Given the description of an element on the screen output the (x, y) to click on. 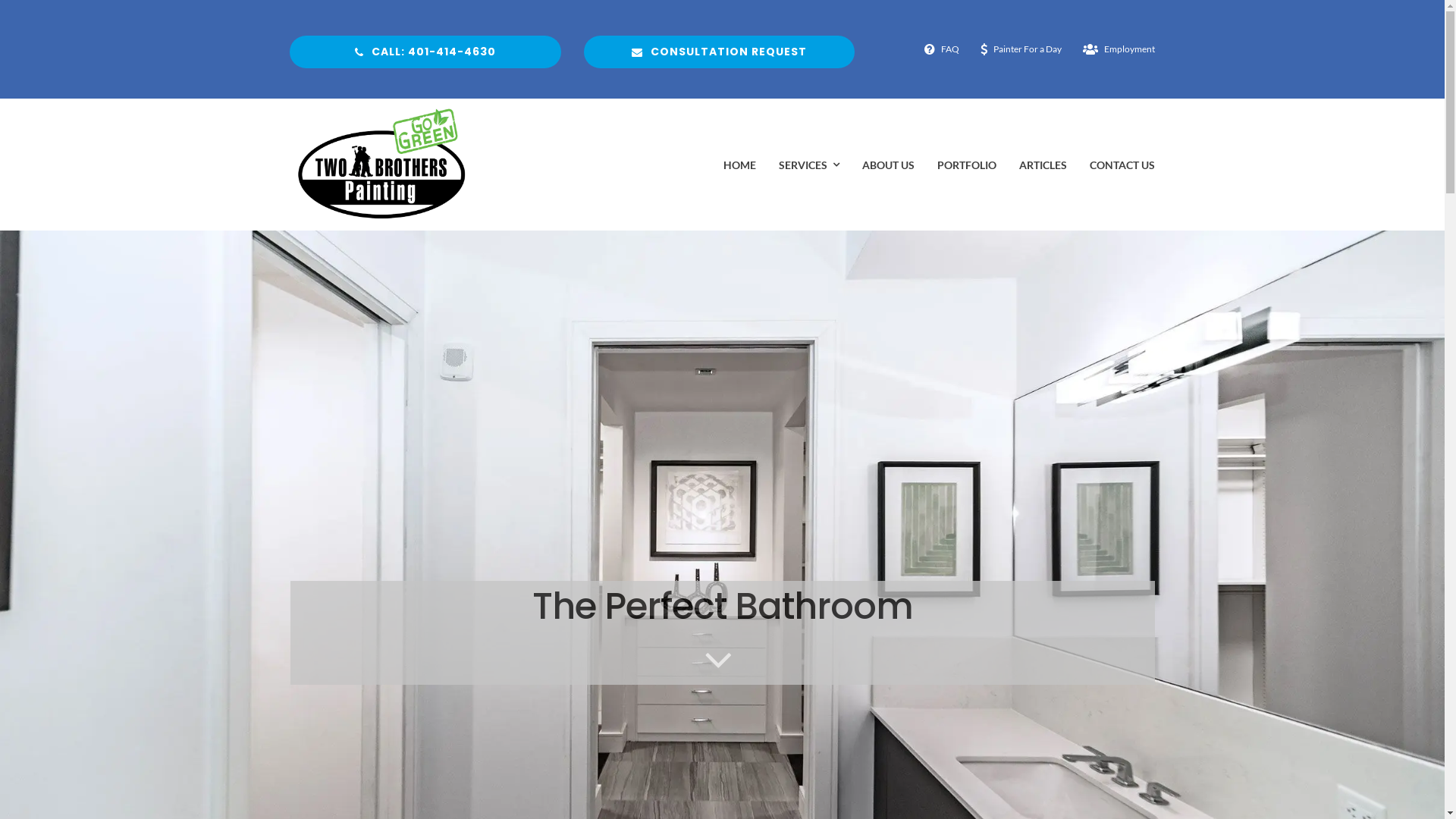
Painter For a Day Element type: text (1017, 49)
PORTFOLIO Element type: text (966, 164)
CONSULTATION REQUEST Element type: text (719, 51)
CONTACT US Element type: text (1121, 164)
ARTICLES Element type: text (1042, 164)
SERVICES Element type: text (808, 164)
FAQ Element type: text (938, 49)
Employment Element type: text (1115, 49)
HOME Element type: text (739, 164)
CALL: 401-414-4630 Element type: text (425, 51)
ABOUT US Element type: text (888, 164)
